Given the description of an element on the screen output the (x, y) to click on. 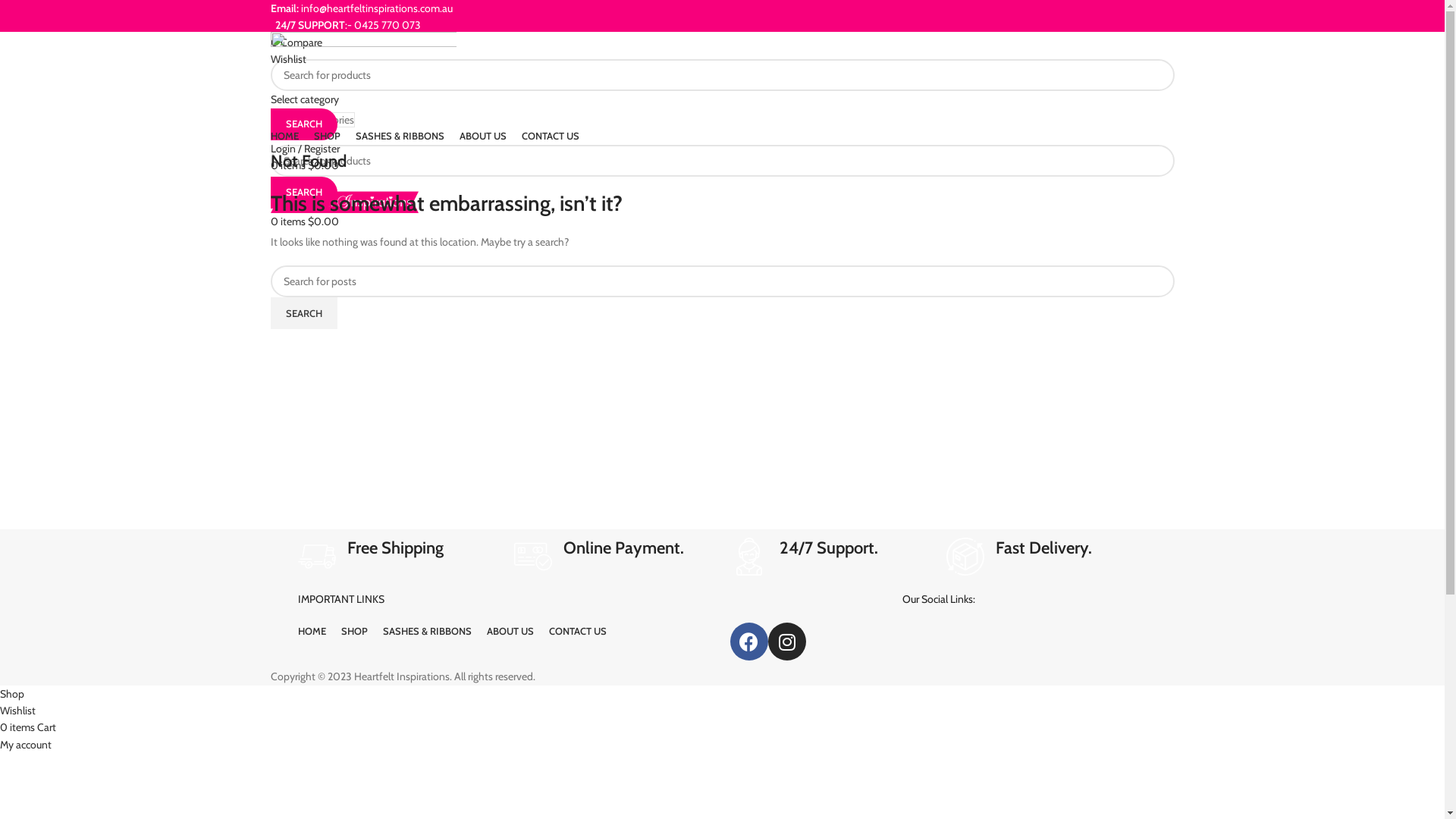
Shop Element type: text (12, 693)
SHOP Element type: text (326, 136)
0 items $0.00 Element type: text (303, 221)
ABOUT US Element type: text (509, 631)
Search for products Element type: hover (721, 75)
My account Element type: text (25, 744)
HOME Element type: text (283, 136)
ABOUT US Element type: text (482, 136)
CONTACT US Element type: text (577, 631)
CONTACT US Element type: text (550, 136)
Search for posts Element type: hover (721, 281)
SASHES & RIBBONS Element type: text (426, 631)
Menu Element type: text (281, 182)
info@heartfeltinspirations.com.au Element type: text (375, 8)
SHOP Element type: text (354, 631)
HOME Element type: text (311, 631)
0 items Cart Element type: text (28, 727)
Wishlist Element type: text (287, 58)
Wishlist Element type: text (17, 710)
Search for products Element type: hover (721, 160)
SEARCH Element type: text (302, 192)
Login / Register Element type: text (303, 148)
SEARCH Element type: text (302, 313)
0 Compare Element type: text (295, 42)
Select category Element type: text (303, 99)
SEARCH Element type: text (302, 124)
SASHES & RIBBONS Element type: text (398, 136)
0 items $0.00 Element type: text (303, 165)
